Given the description of an element on the screen output the (x, y) to click on. 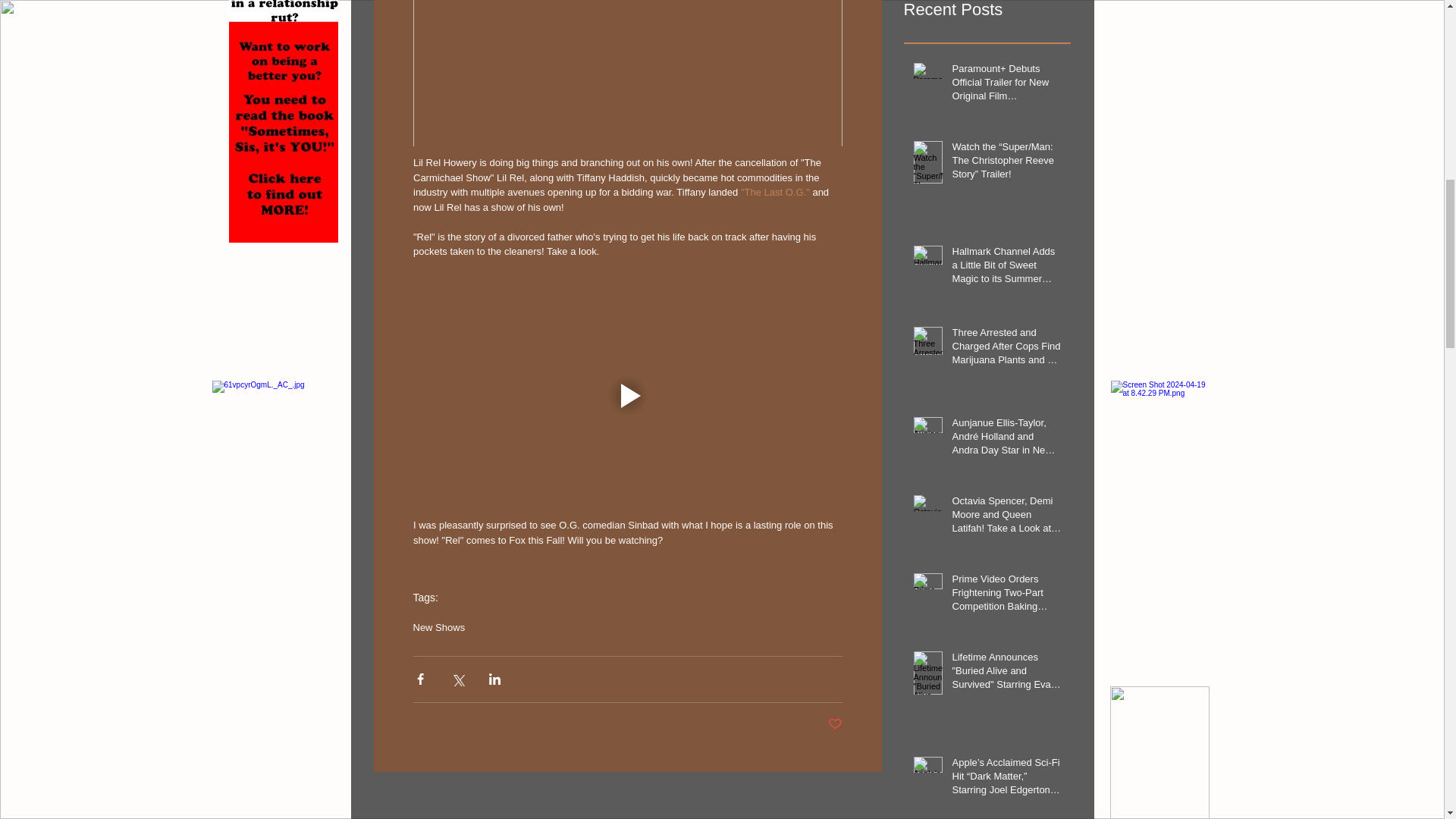
"The Last O.G." (774, 192)
New Shows (438, 627)
Post not marked as liked (835, 724)
